Given the description of an element on the screen output the (x, y) to click on. 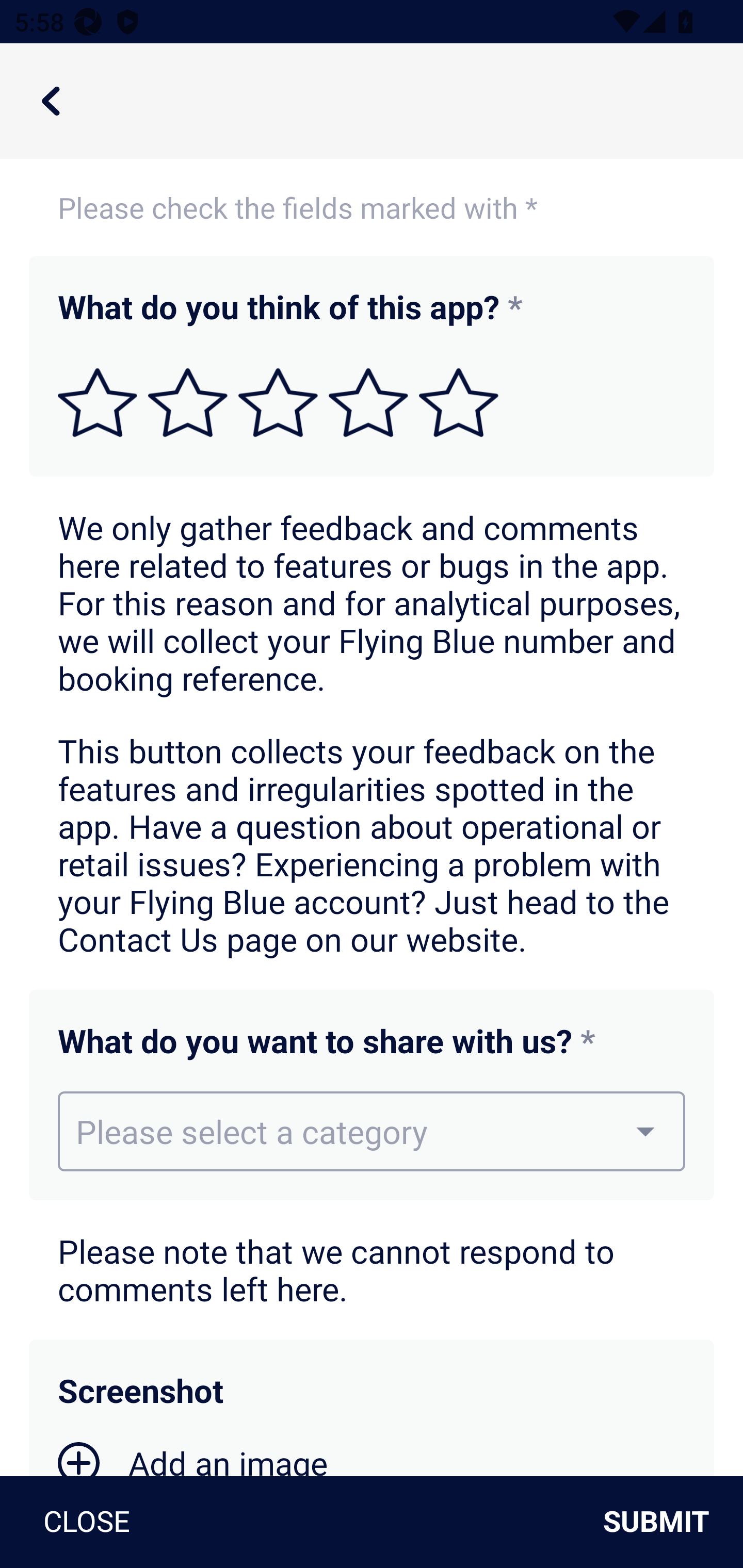
Navigate up (50, 101)
Please select a category (371, 1131)
Add an image (192, 1457)
CLOSE (79, 1521)
SUBMIT (663, 1521)
